Given the description of an element on the screen output the (x, y) to click on. 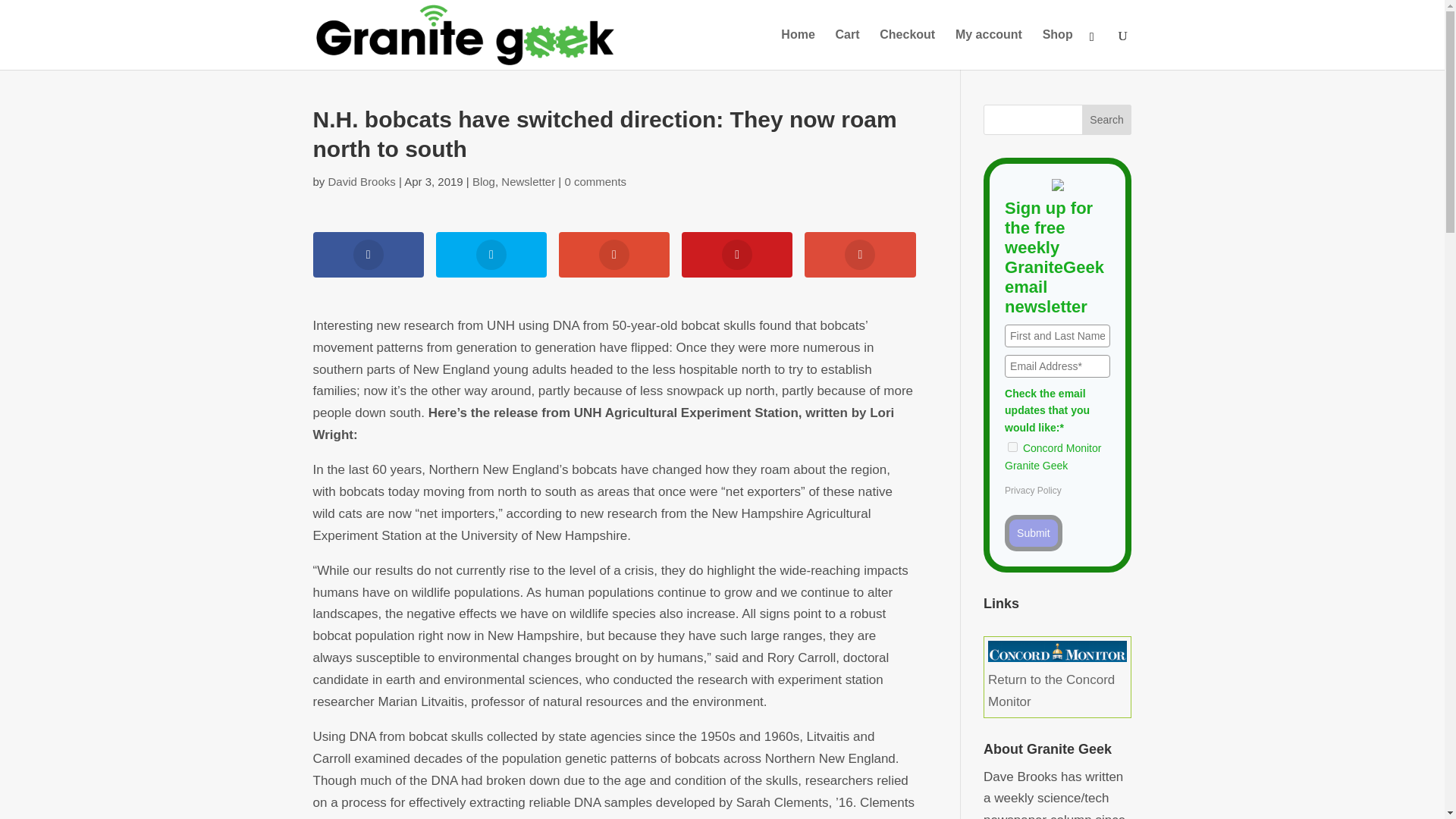
Search (1106, 119)
Submit (1033, 533)
David Brooks (362, 181)
Return to the Concord Monitor (1057, 679)
Privacy Policy (1032, 490)
Checkout (906, 49)
Newsletter (527, 181)
Posts by David Brooks (362, 181)
Search (1106, 119)
25 (1012, 447)
